Given the description of an element on the screen output the (x, y) to click on. 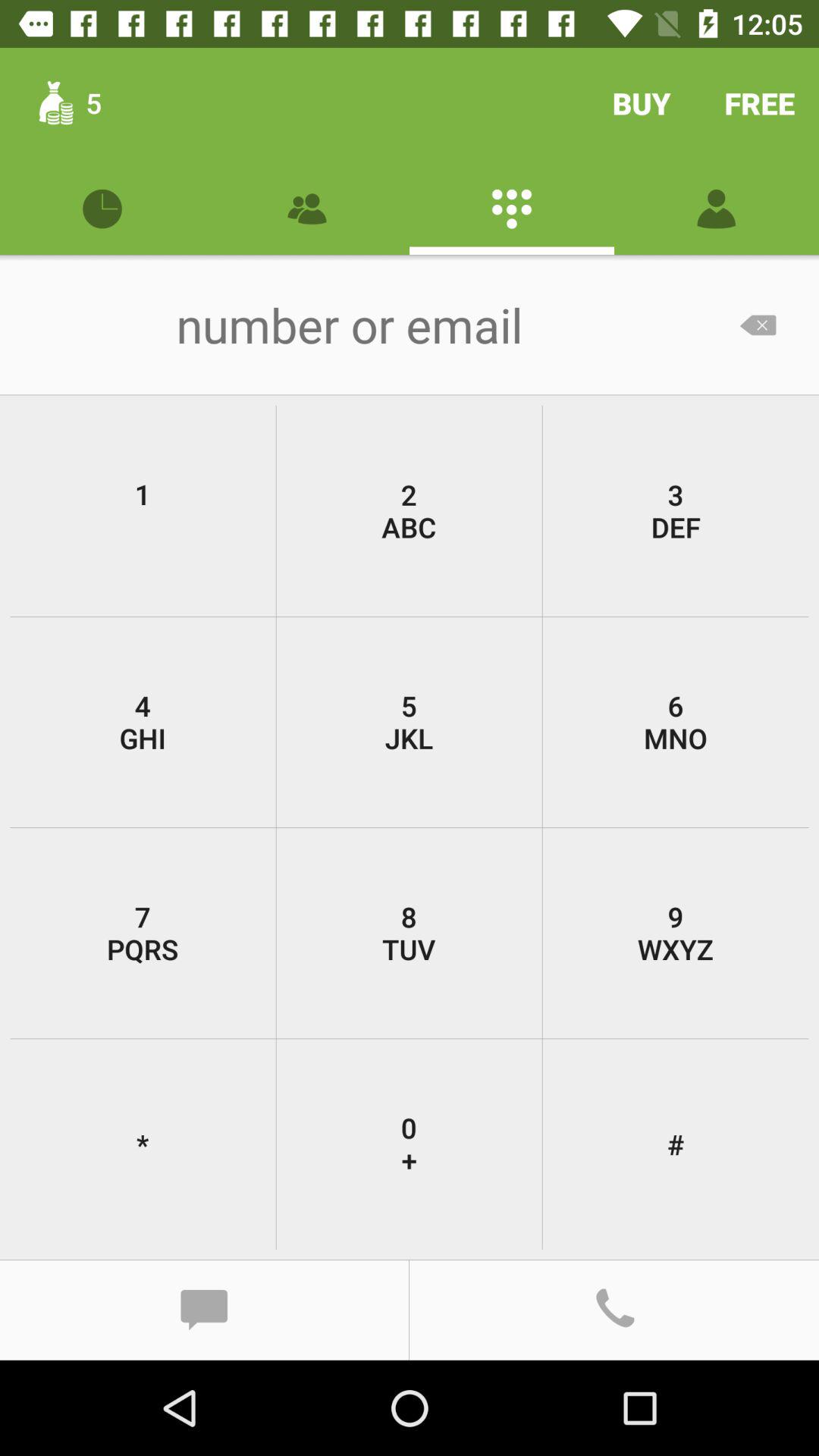
turn off 6
mno (675, 722)
